Given the description of an element on the screen output the (x, y) to click on. 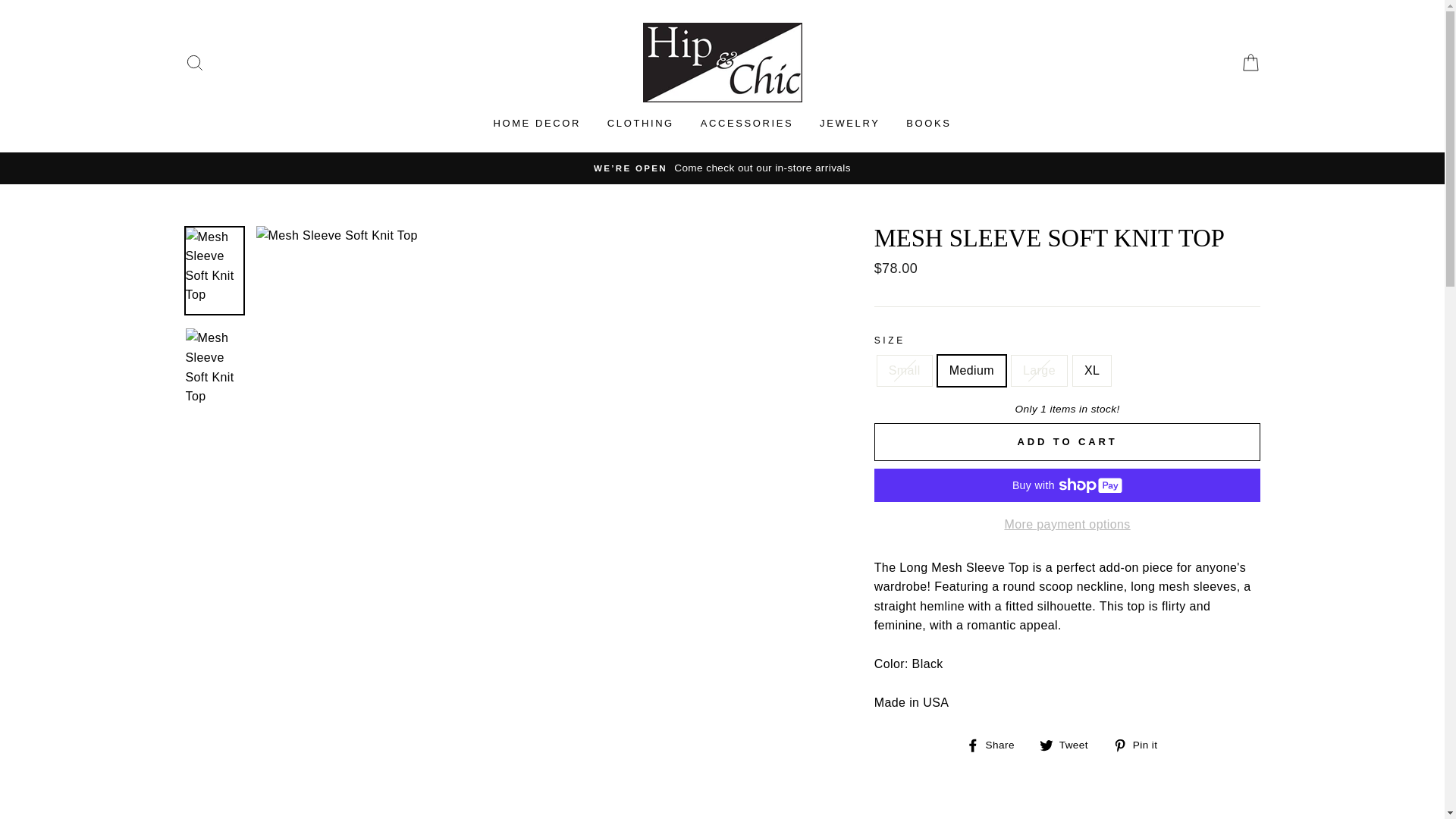
ADD TO CART (1067, 442)
Small (996, 744)
JEWELRY (1069, 744)
More payment options (849, 123)
CART (1141, 744)
Large (1067, 524)
Pin on Pinterest (640, 123)
HOME DECOR (1249, 61)
ACCESSORIES (1141, 744)
